Given the description of an element on the screen output the (x, y) to click on. 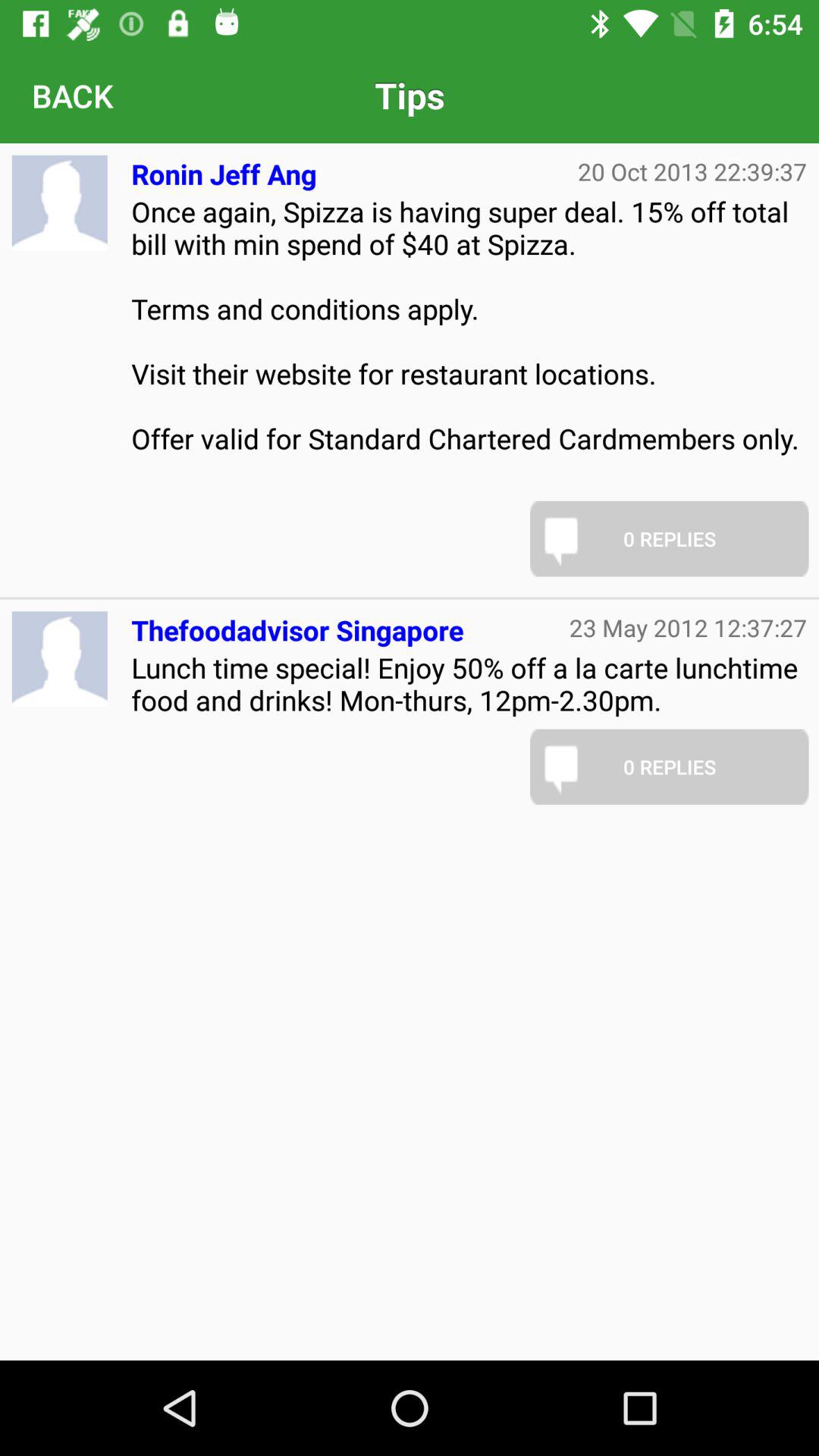
select thefoodadvisor singapore icon (297, 623)
